Given the description of an element on the screen output the (x, y) to click on. 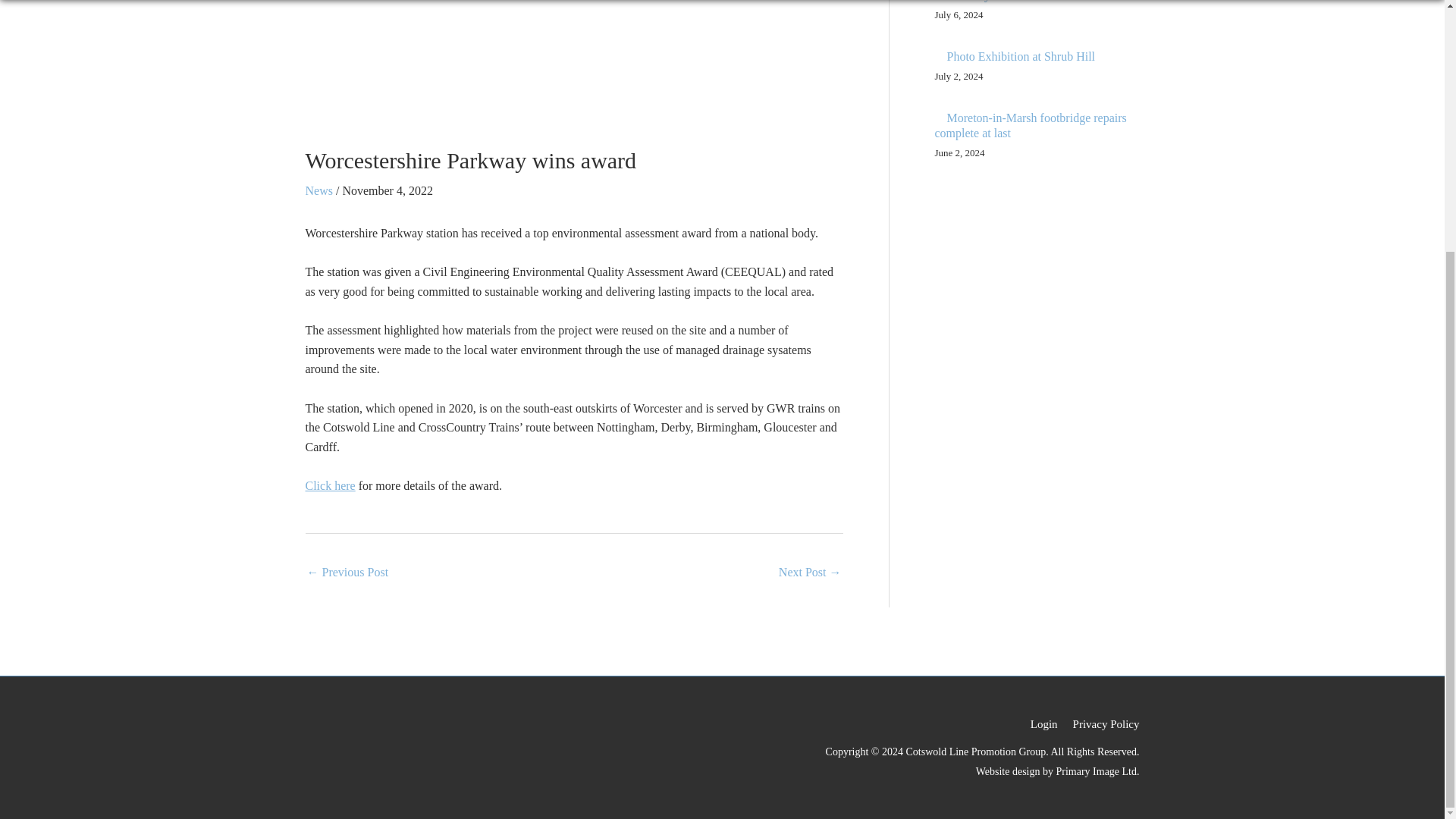
Another strike shutdown on Cotswold Line (809, 573)
No Cotswold Line trains for four days (346, 573)
News (317, 190)
The Way Forward (989, 0)
Moreton-in-Marsh footbridge repairs complete at last (1029, 125)
Click here (329, 485)
Photo Exhibition at Shrub Hill (1020, 56)
